Given the description of an element on the screen output the (x, y) to click on. 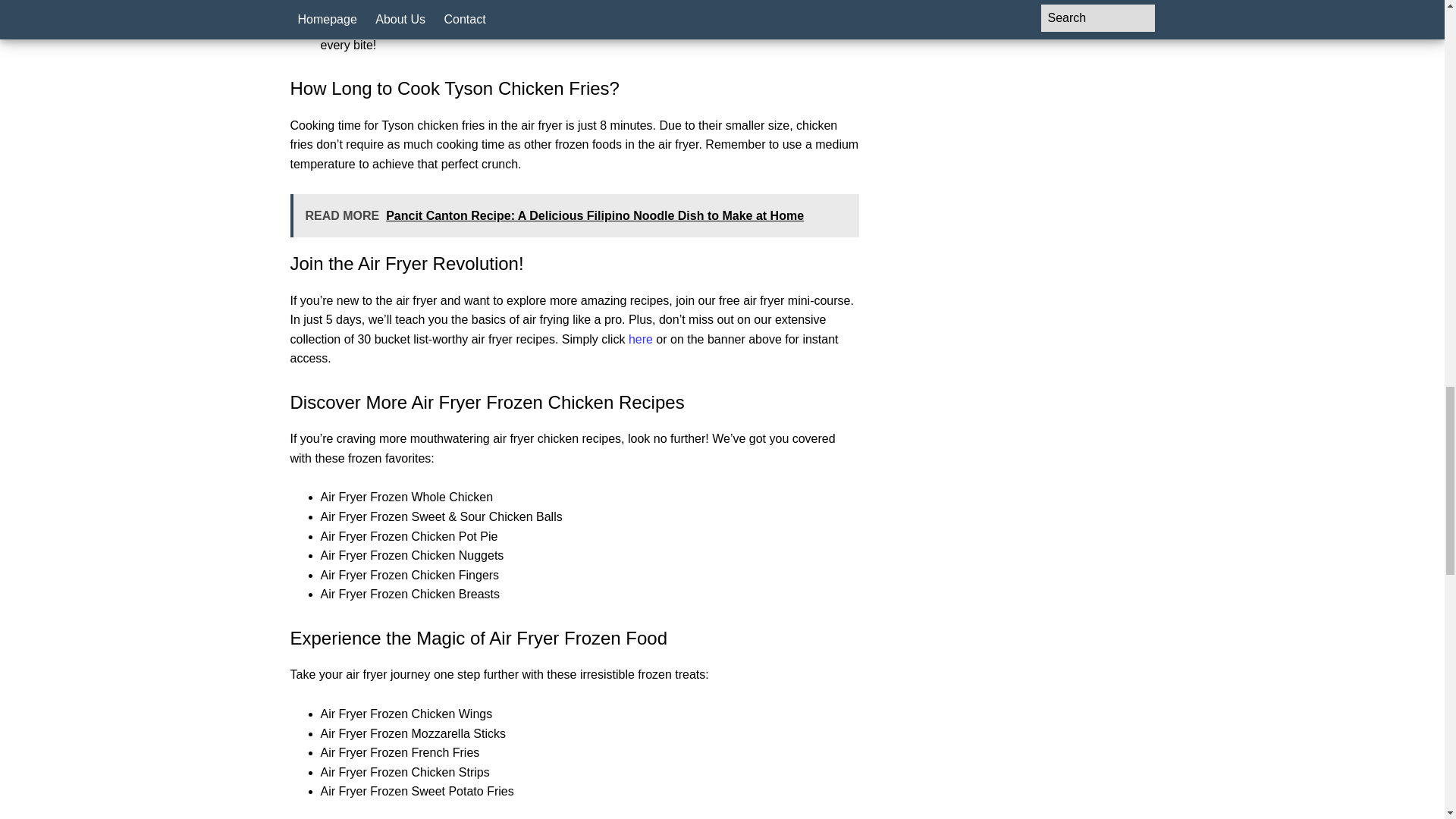
here (640, 338)
